Given the description of an element on the screen output the (x, y) to click on. 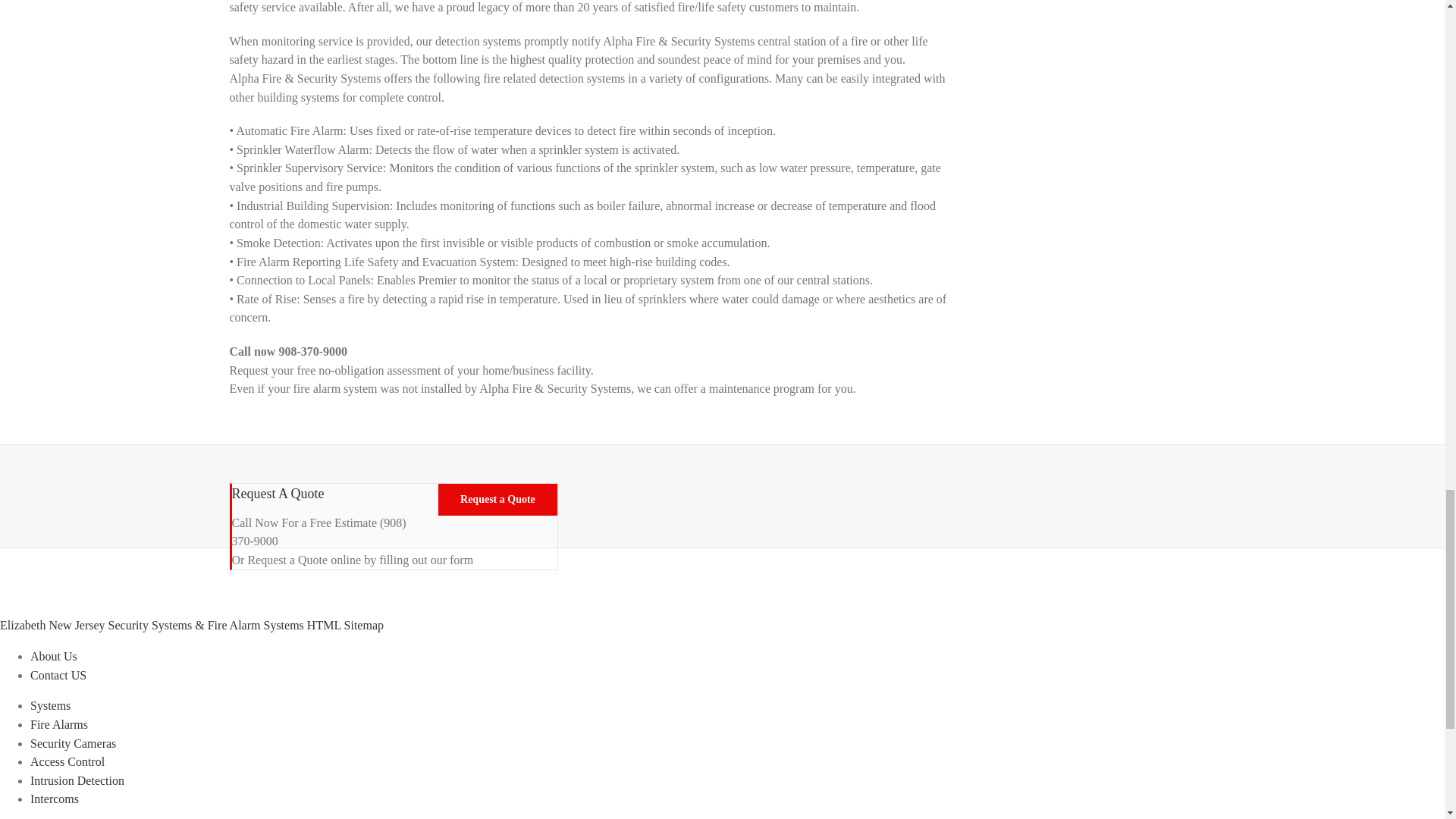
Request a Quote (497, 499)
Contact US (57, 675)
About Us (53, 656)
